Given the description of an element on the screen output the (x, y) to click on. 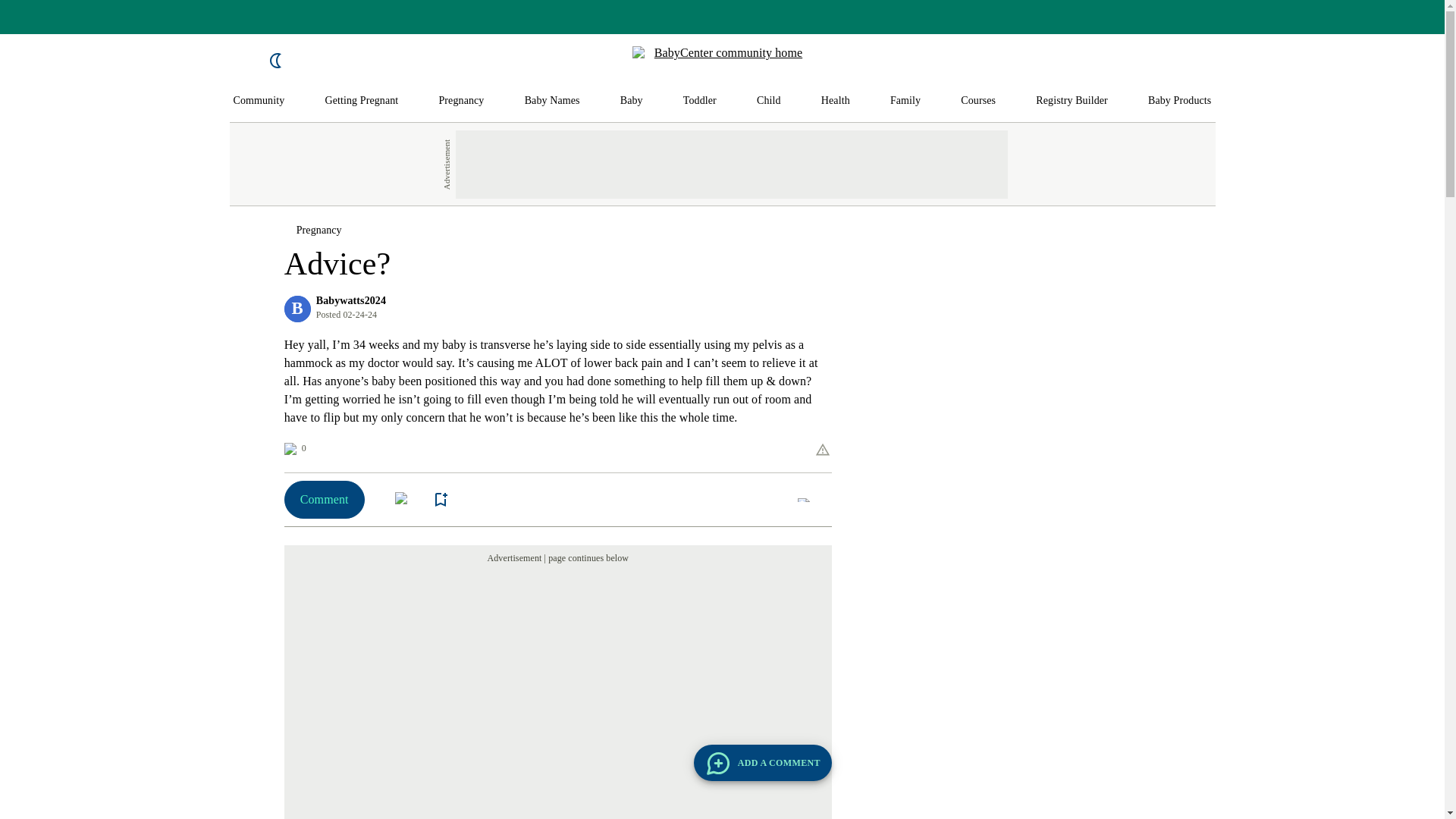
Baby Products (1179, 101)
Health (835, 101)
Child (768, 101)
Baby (631, 101)
Community (258, 101)
Getting Pregnant (360, 101)
Courses (977, 101)
Toddler (699, 101)
Family (904, 101)
Pregnancy (460, 101)
Registry Builder (1071, 101)
Baby Names (551, 101)
